Given the description of an element on the screen output the (x, y) to click on. 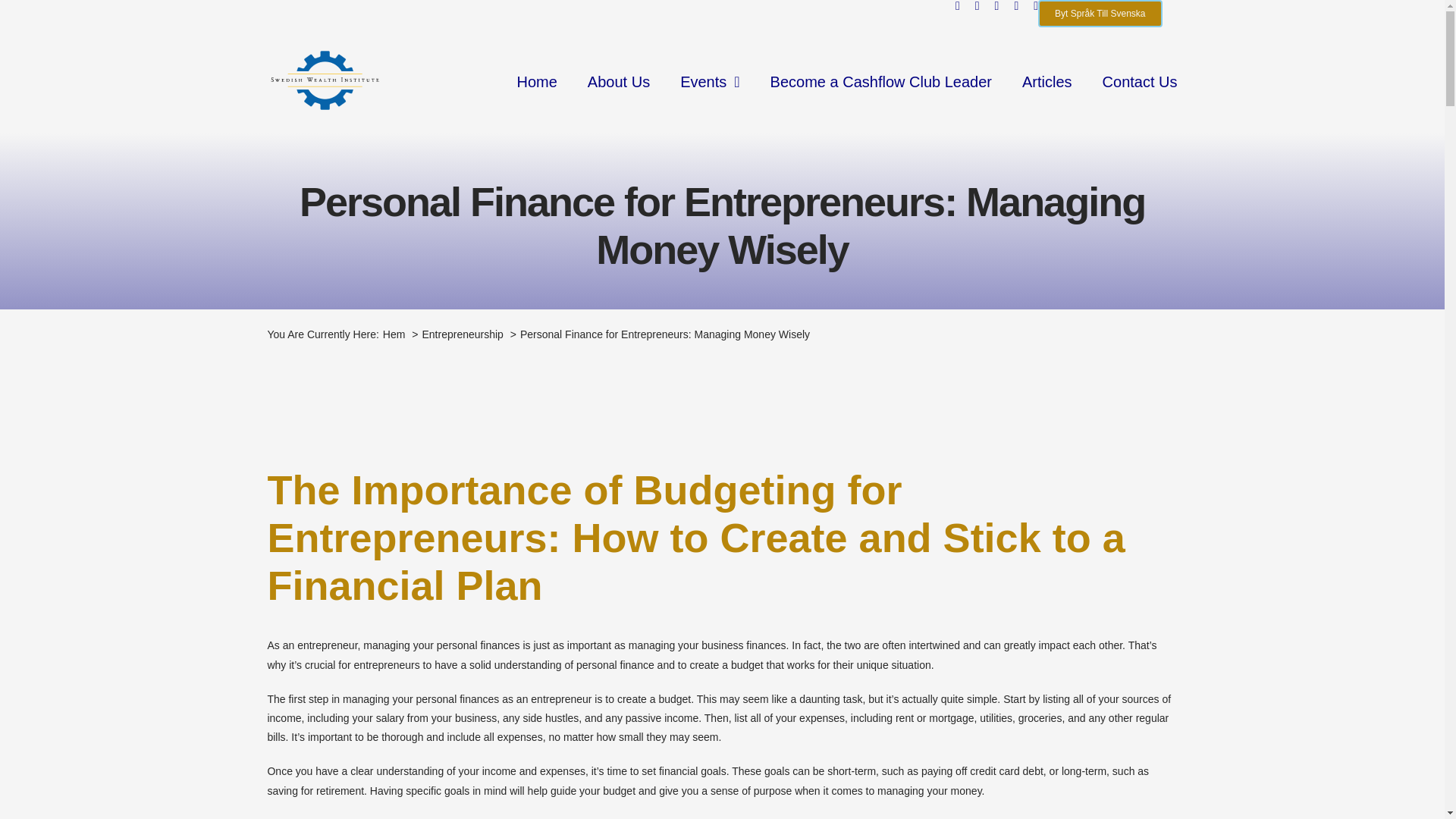
About Us (618, 79)
Contact Us (1139, 79)
Hem (394, 334)
Events (709, 79)
Entrepreneurship (462, 334)
Become a Cashflow Club Leader (880, 79)
